Given the description of an element on the screen output the (x, y) to click on. 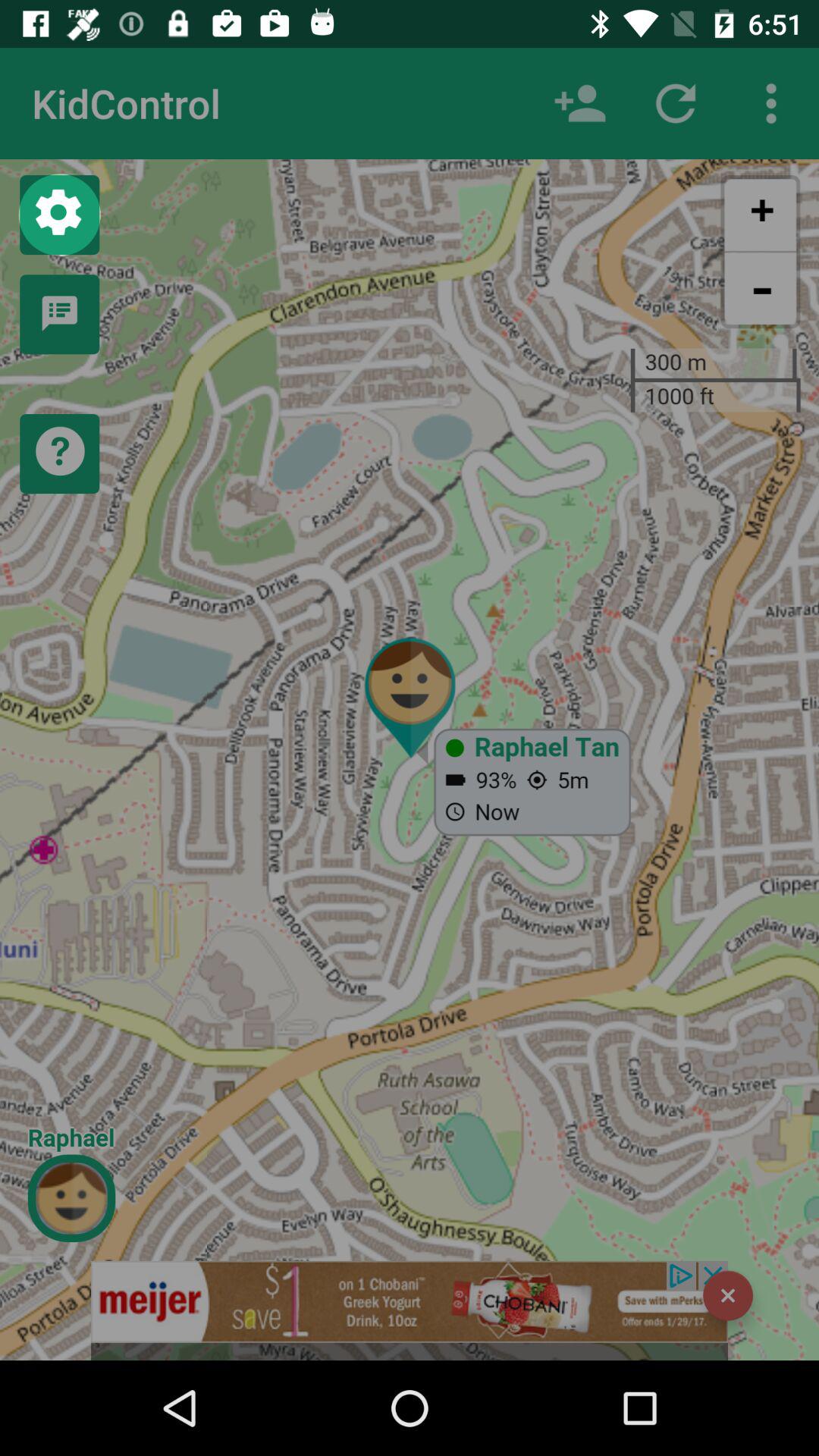
select item below kidcontrol item (59, 214)
